Given the description of an element on the screen output the (x, y) to click on. 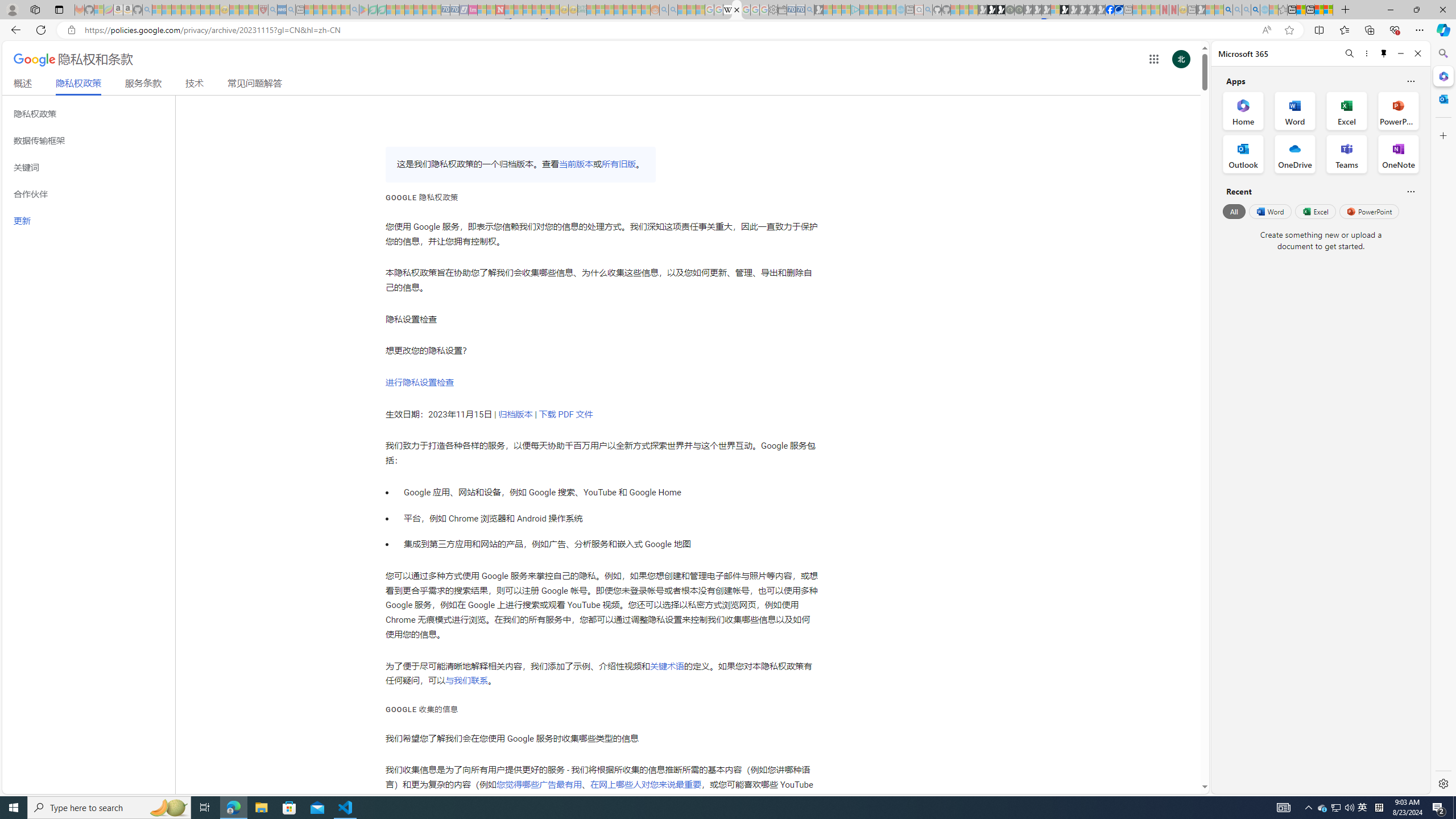
Future Focus Report 2024 - Sleeping (1018, 9)
Excel Office App (1346, 110)
